Given the description of an element on the screen output the (x, y) to click on. 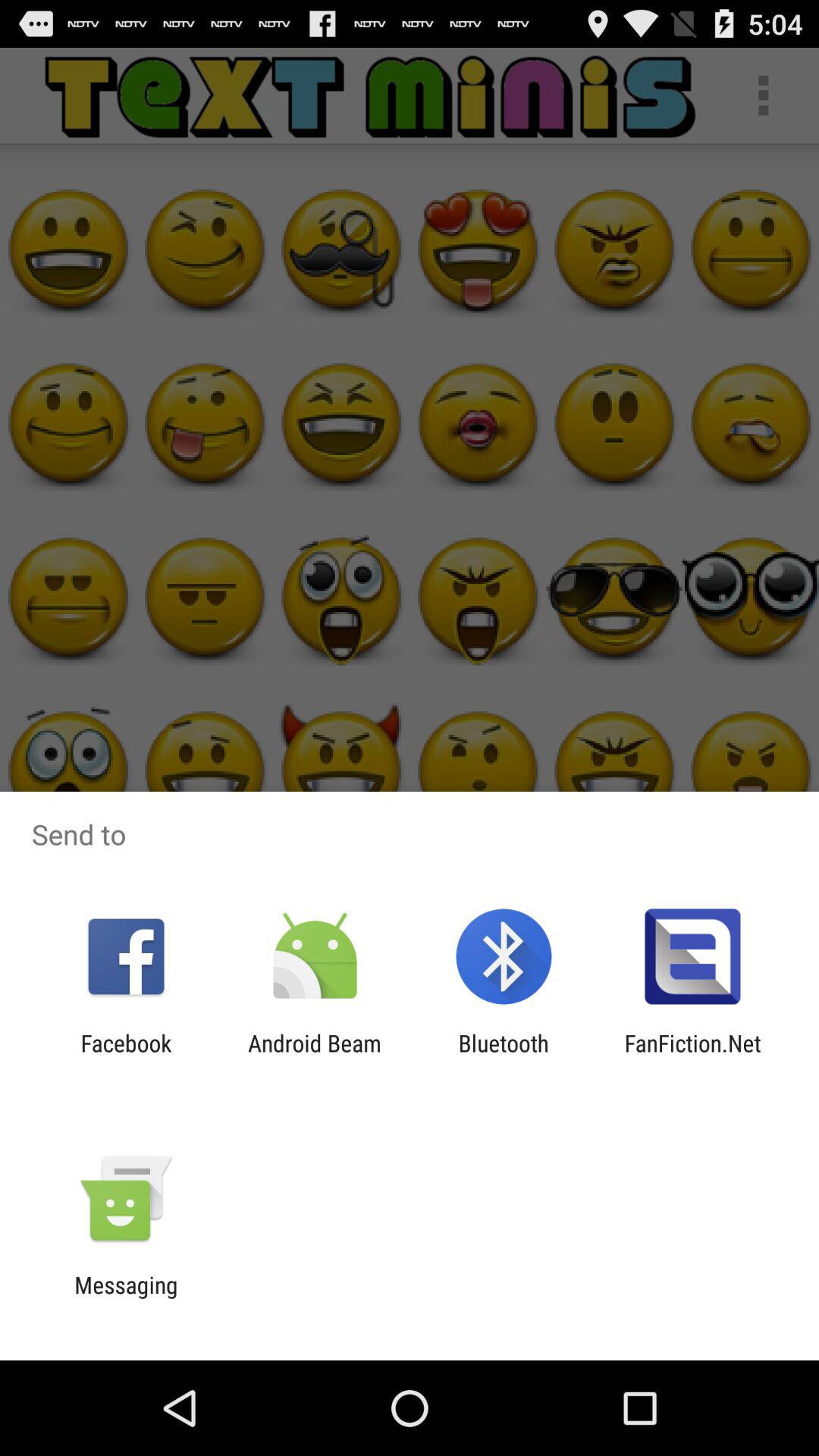
flip until fanfiction.net icon (692, 1056)
